Given the description of an element on the screen output the (x, y) to click on. 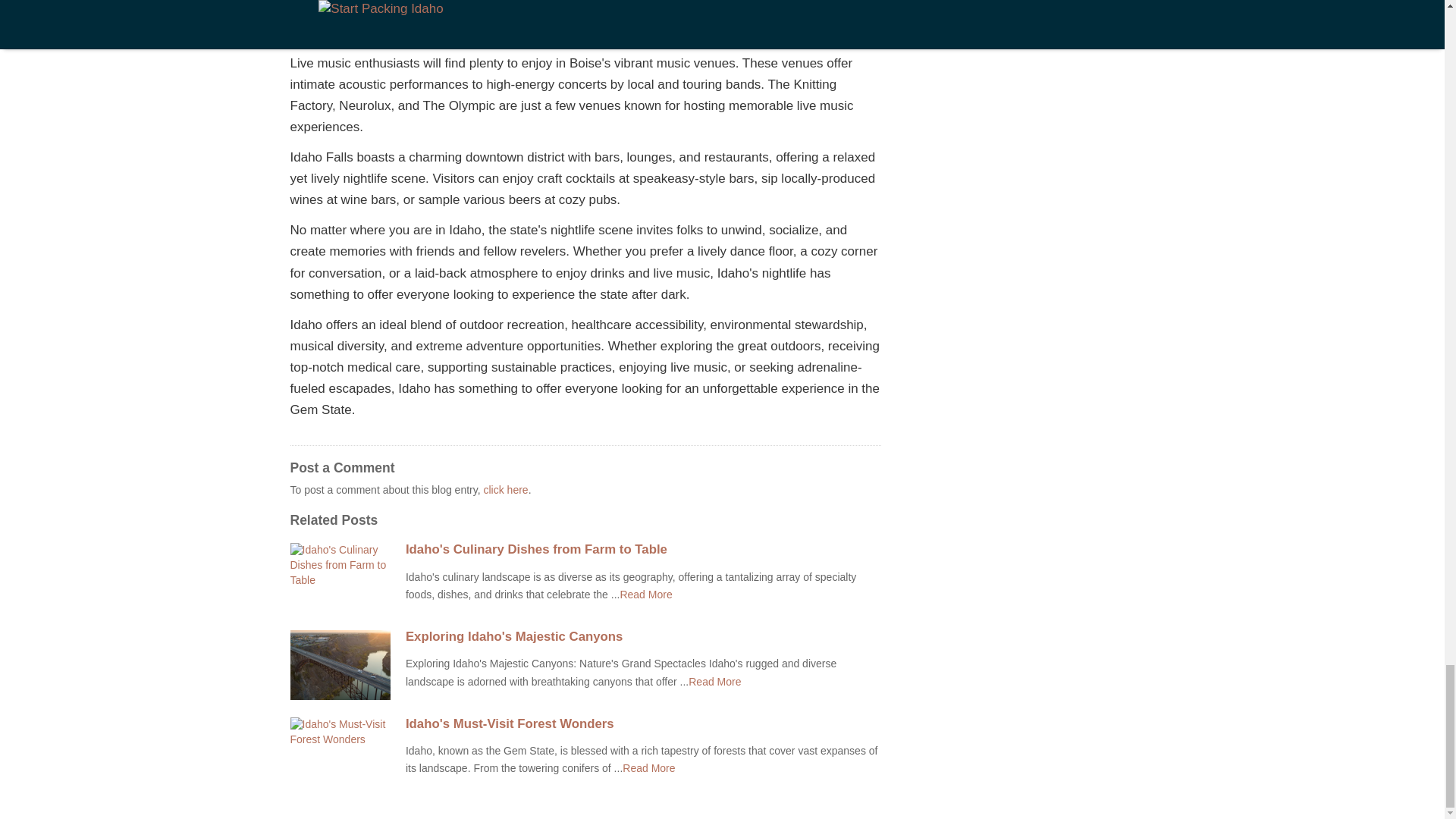
Idaho's Culinary Dishes from Farm to Table (643, 549)
Exploring Idaho's Majestic Canyons (643, 636)
Considering a move to Idaho (714, 681)
Considering a move to Idaho (649, 767)
Considering a move to Idaho (645, 594)
Idaho's Must-Visit Forest Wonders (643, 724)
